Given the description of an element on the screen output the (x, y) to click on. 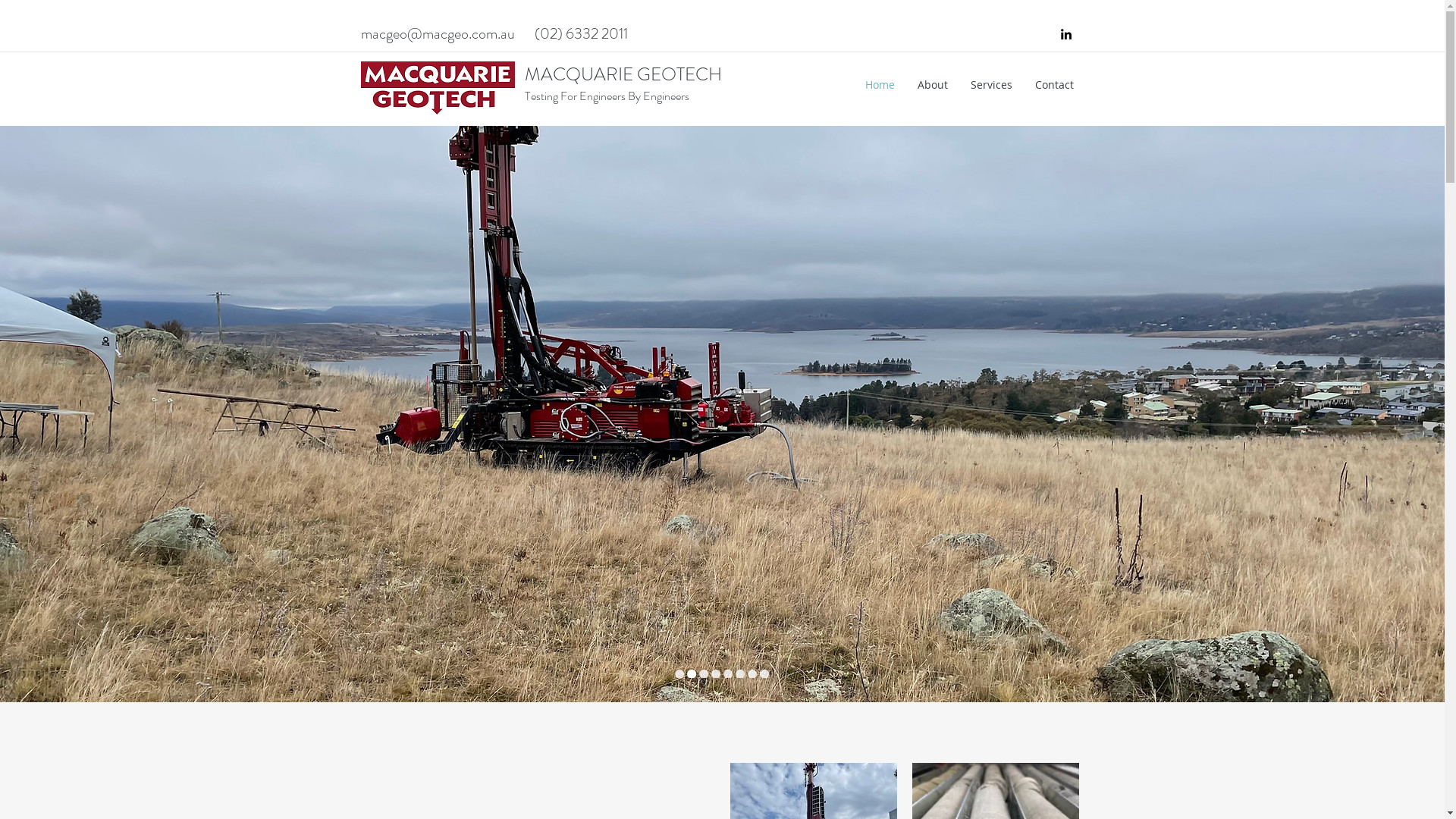
Contact Element type: text (1054, 84)
macgeo@macgeo.com.au Element type: text (437, 33)
Untitled Element type: hover (437, 89)
Services Element type: text (990, 84)
About Element type: text (931, 84)
Home Element type: text (879, 84)
